Given the description of an element on the screen output the (x, y) to click on. 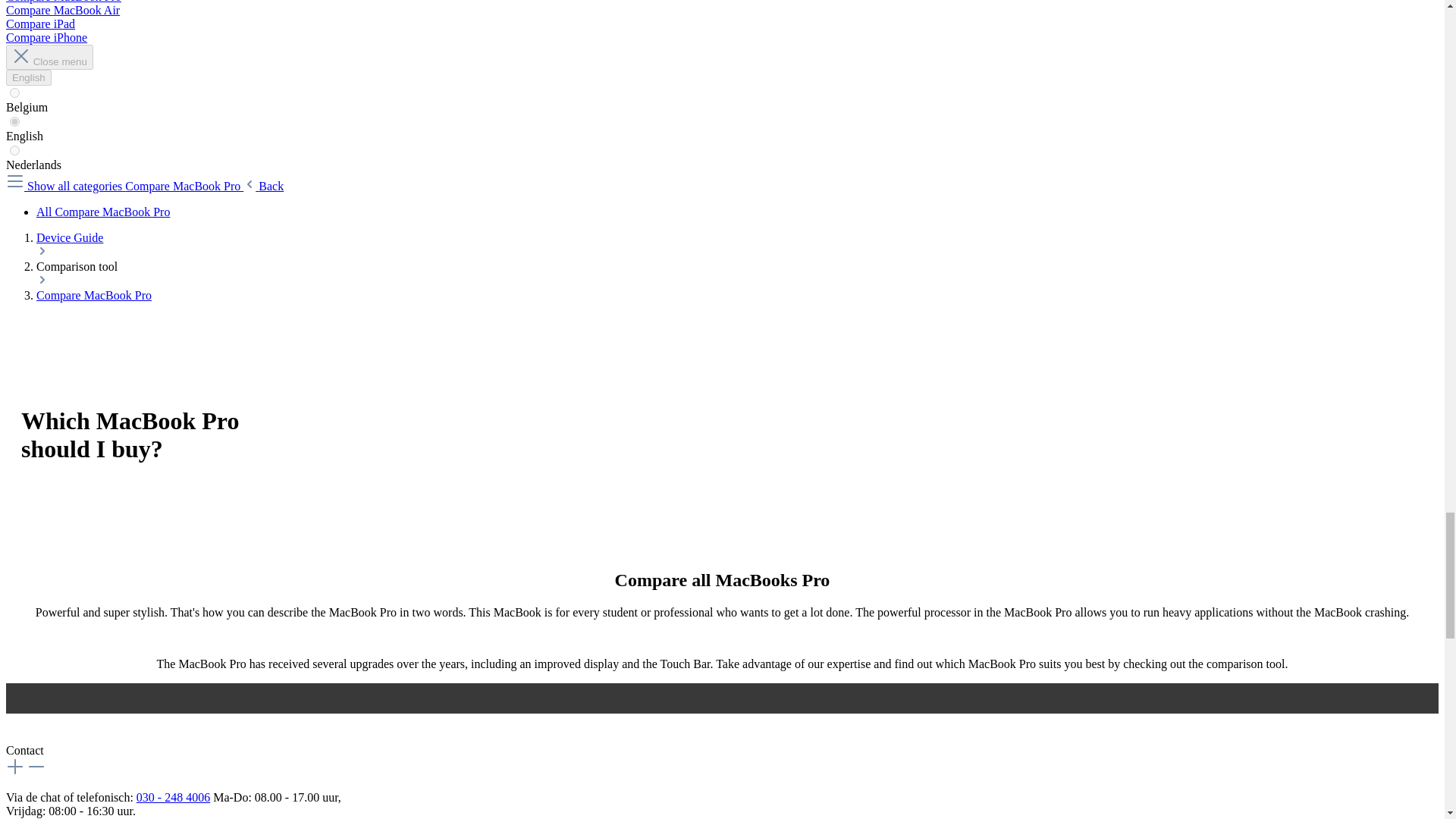
b7fd4a333d204ce89a82f73c1dbccfe0 (15, 92)
378ce7f192d34b0394950e7b331c34c4 (15, 150)
2fbb5fe2e29a4d70aa5854ce7ce3e20b (15, 121)
